Given the description of an element on the screen output the (x, y) to click on. 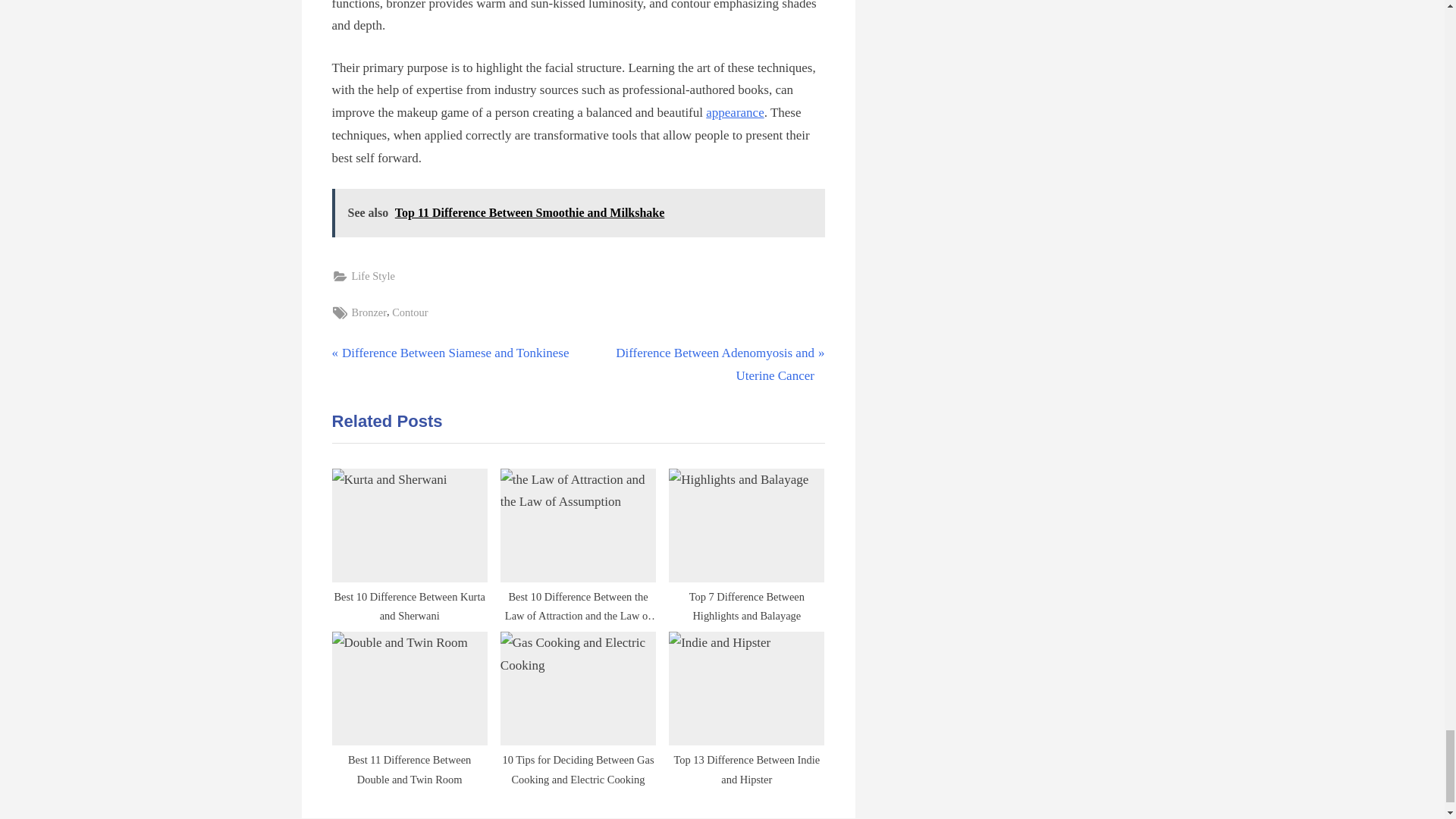
See also  Top 11 Difference Between Smoothie and Milkshake (578, 213)
appearance (734, 112)
Best 10 Difference Between Kurta and Sherwani (409, 540)
Top 7 Difference Between Highlights and Balayage (450, 353)
Life Style (746, 540)
Bronzer (373, 275)
Best 11 Difference Between Double and Twin Room (704, 364)
Contour (369, 312)
